Given the description of an element on the screen output the (x, y) to click on. 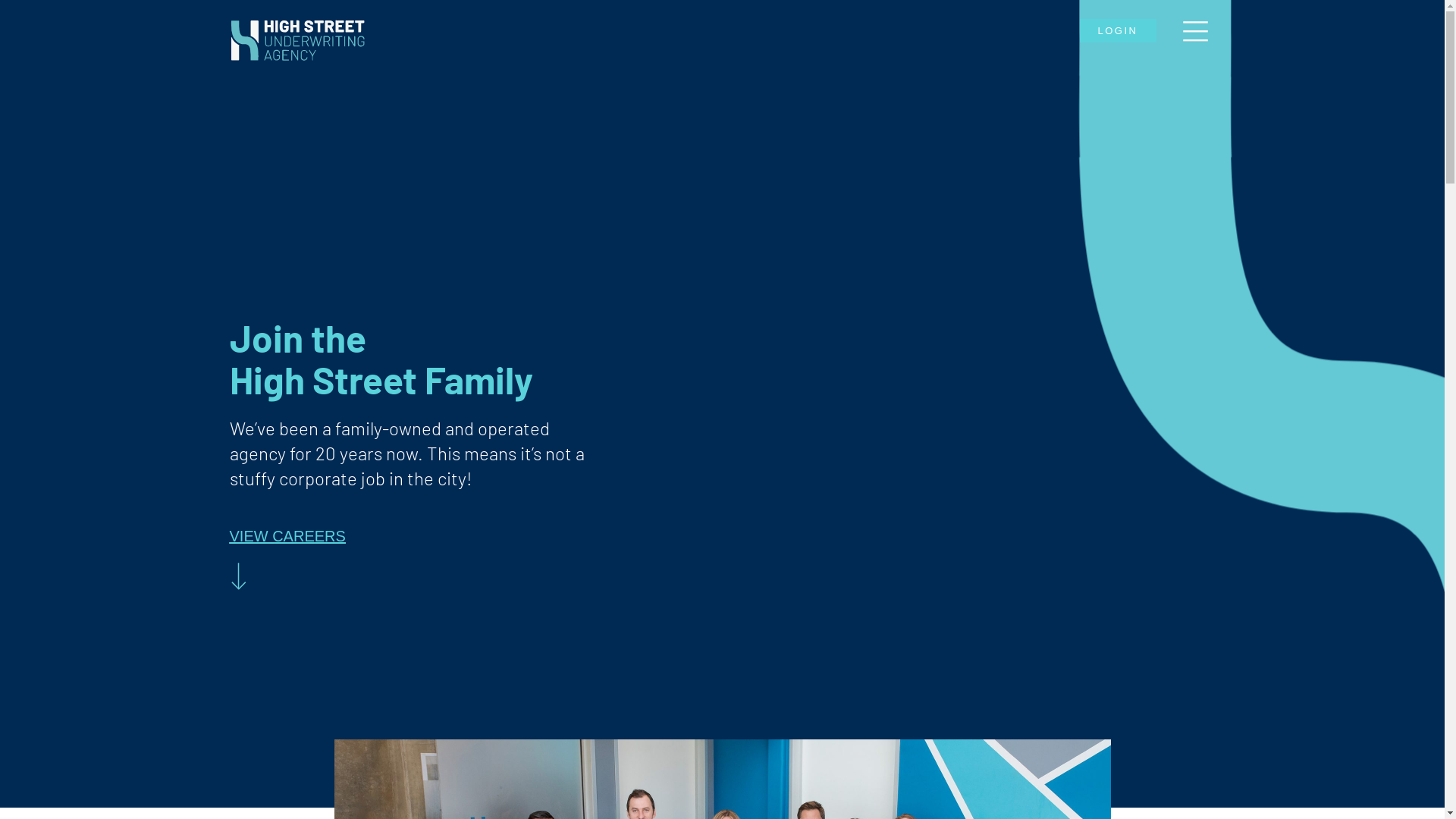
LOGIN Element type: text (1117, 30)
VIEW CAREERS Element type: text (287, 535)
